Given the description of an element on the screen output the (x, y) to click on. 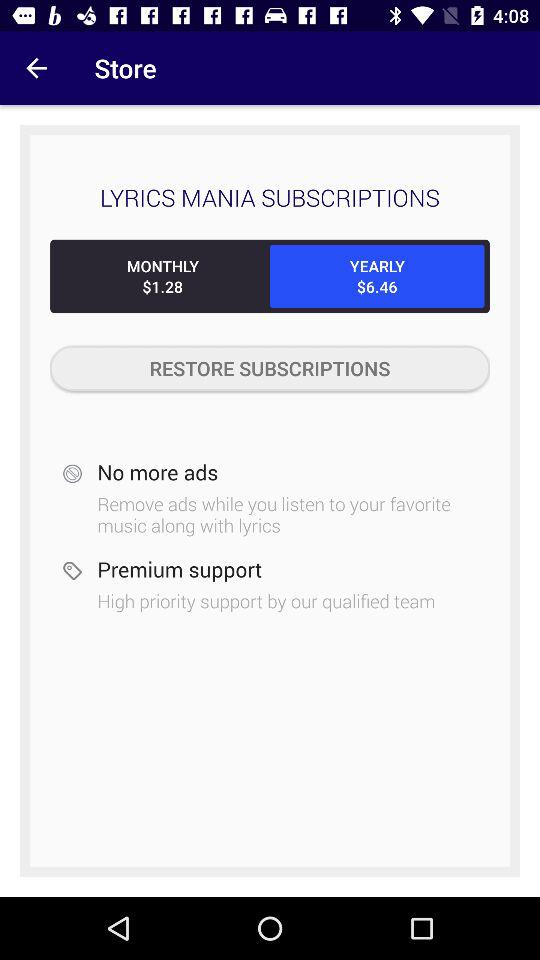
scroll until restore subscriptions item (269, 368)
